Given the description of an element on the screen output the (x, y) to click on. 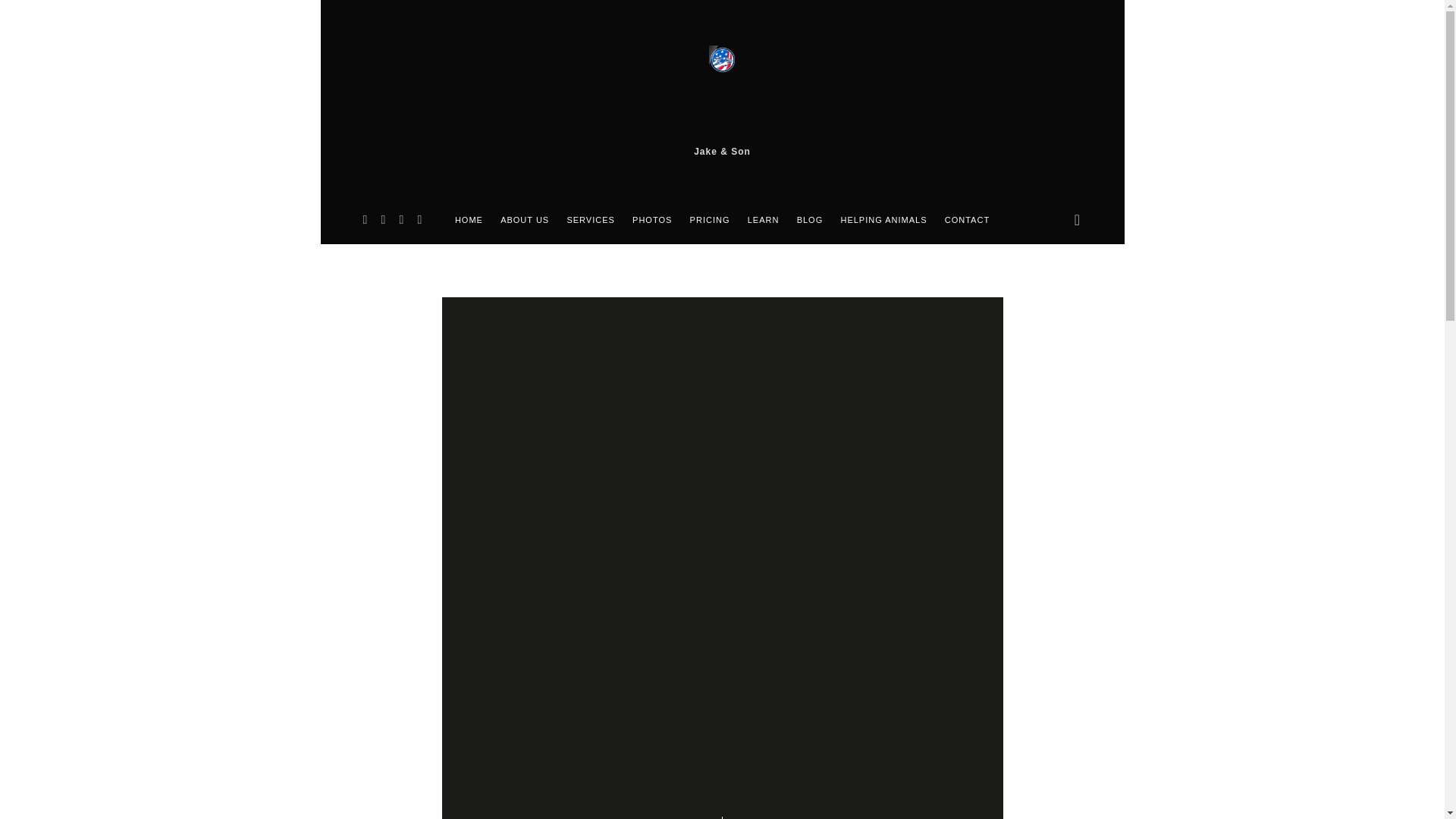
SERVICES (590, 219)
ABOUT US (524, 219)
CONTACT (967, 219)
HELPING ANIMALS (883, 219)
